Given the description of an element on the screen output the (x, y) to click on. 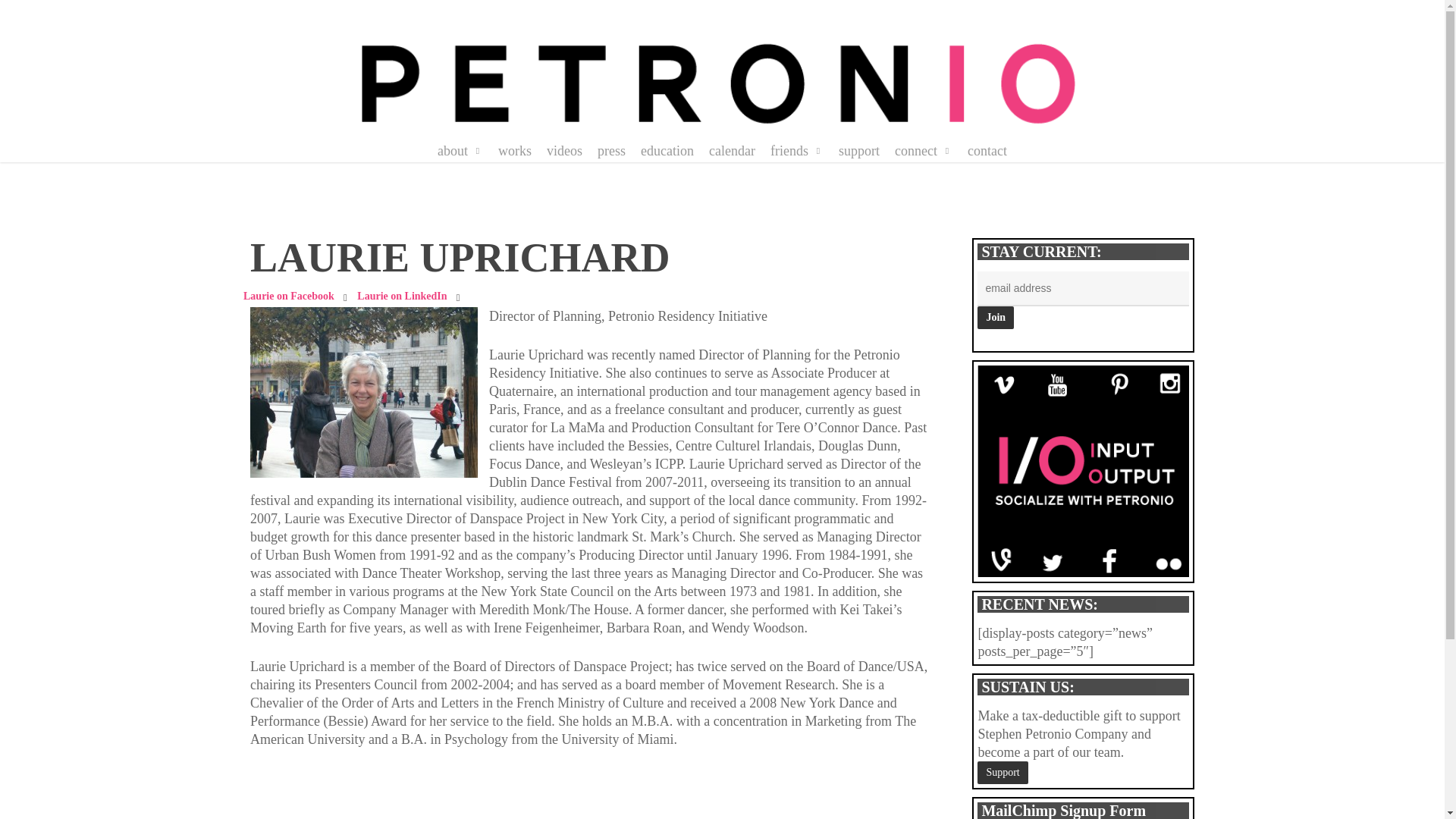
education (667, 151)
Support (1001, 772)
support (858, 151)
about (460, 151)
friends (797, 151)
calendar (732, 151)
Join (994, 317)
press (611, 151)
videos (564, 151)
works (514, 151)
contact (987, 151)
Join (994, 317)
Support (1001, 772)
Laurie on Facebook (288, 296)
Laurie on LinkedIn (401, 296)
